Given the description of an element on the screen output the (x, y) to click on. 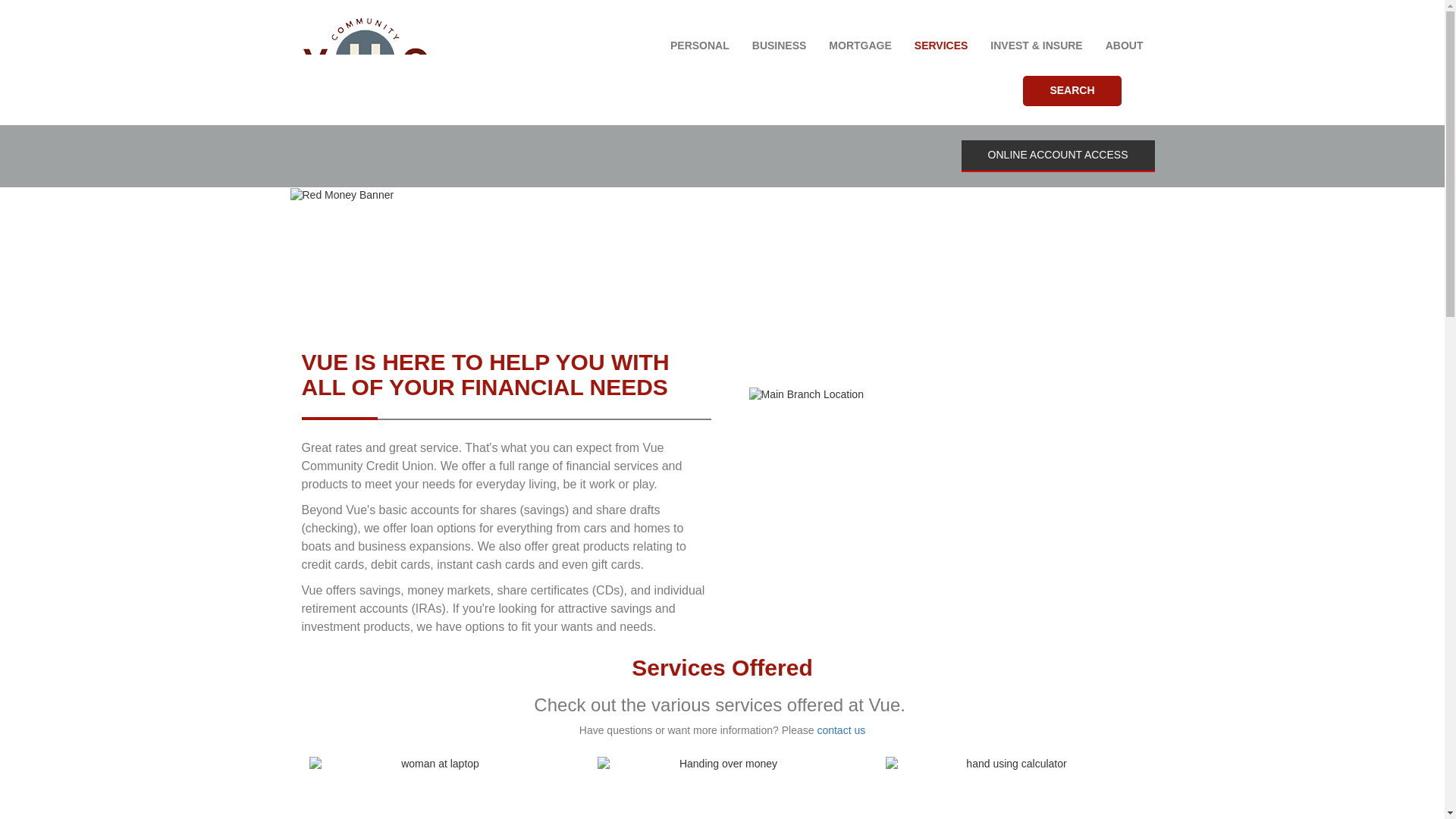
MORTGAGE (859, 39)
Online Account Access (1057, 155)
SERVICES (940, 39)
Home (371, 60)
PERSONAL (700, 39)
BUSINESS (779, 39)
SEARCH (1072, 91)
ABOUT (1124, 39)
